Given the description of an element on the screen output the (x, y) to click on. 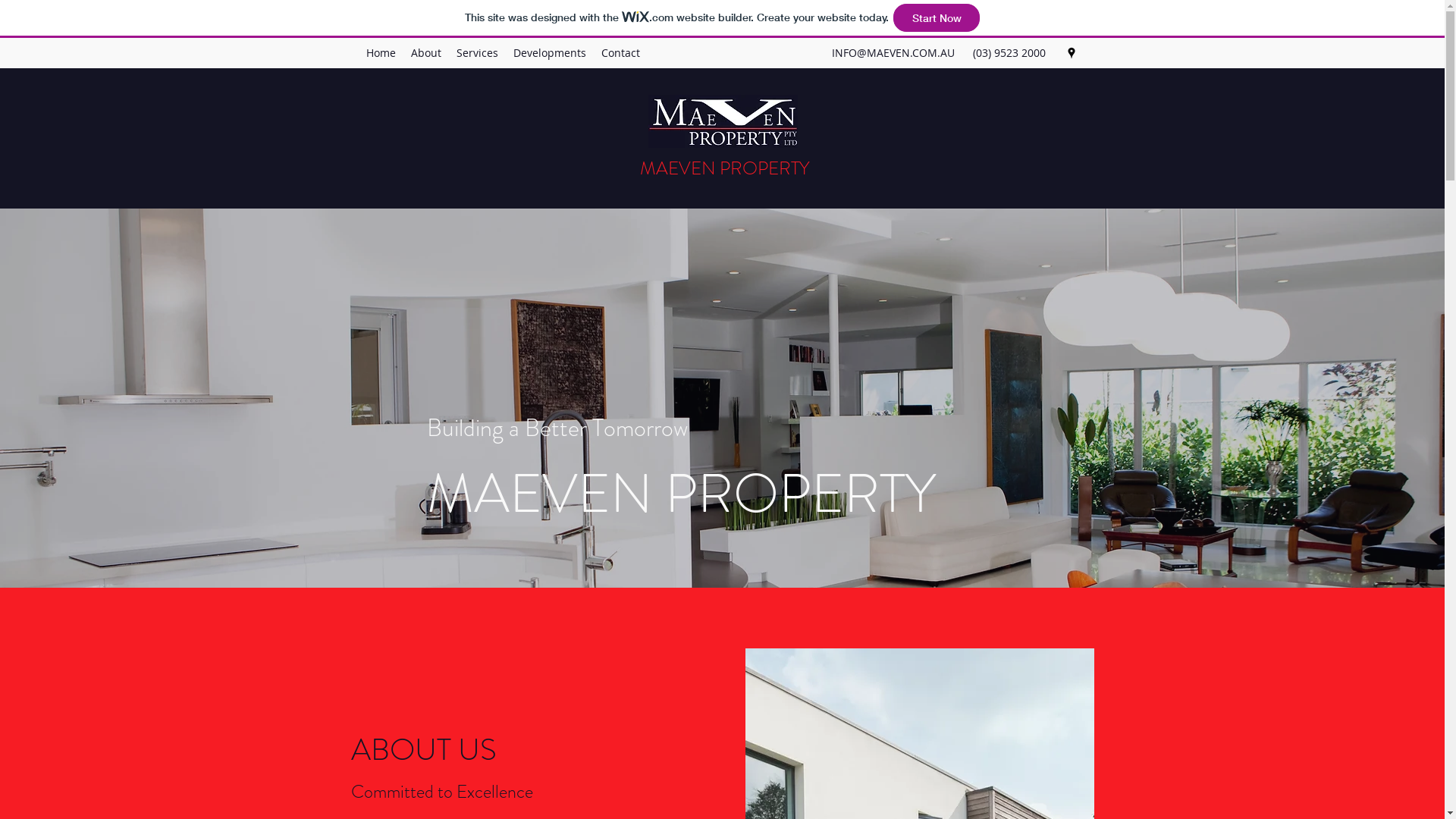
Home Element type: text (379, 52)
Services Element type: text (476, 52)
INFO@MAEVEN.COM.AU Element type: text (892, 52)
About Element type: text (425, 52)
Contact Element type: text (619, 52)
Developments Element type: text (549, 52)
